Given the description of an element on the screen output the (x, y) to click on. 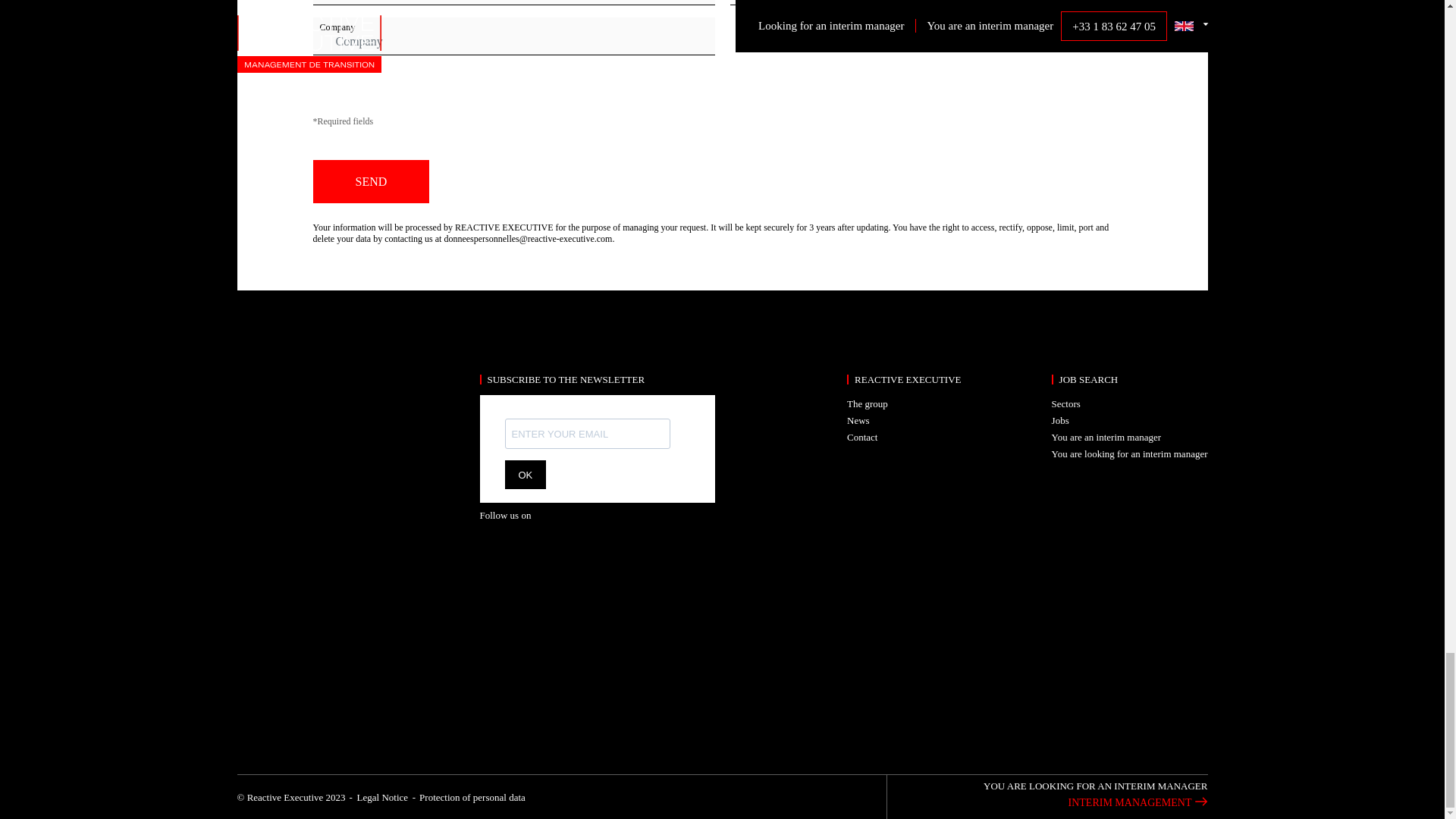
Send (371, 181)
